Given the description of an element on the screen output the (x, y) to click on. 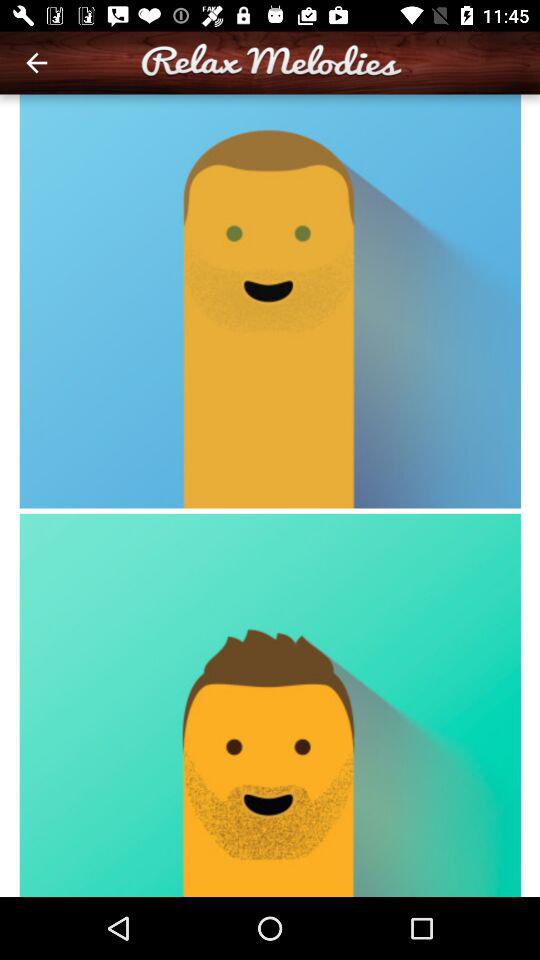
color print (270, 495)
